Given the description of an element on the screen output the (x, y) to click on. 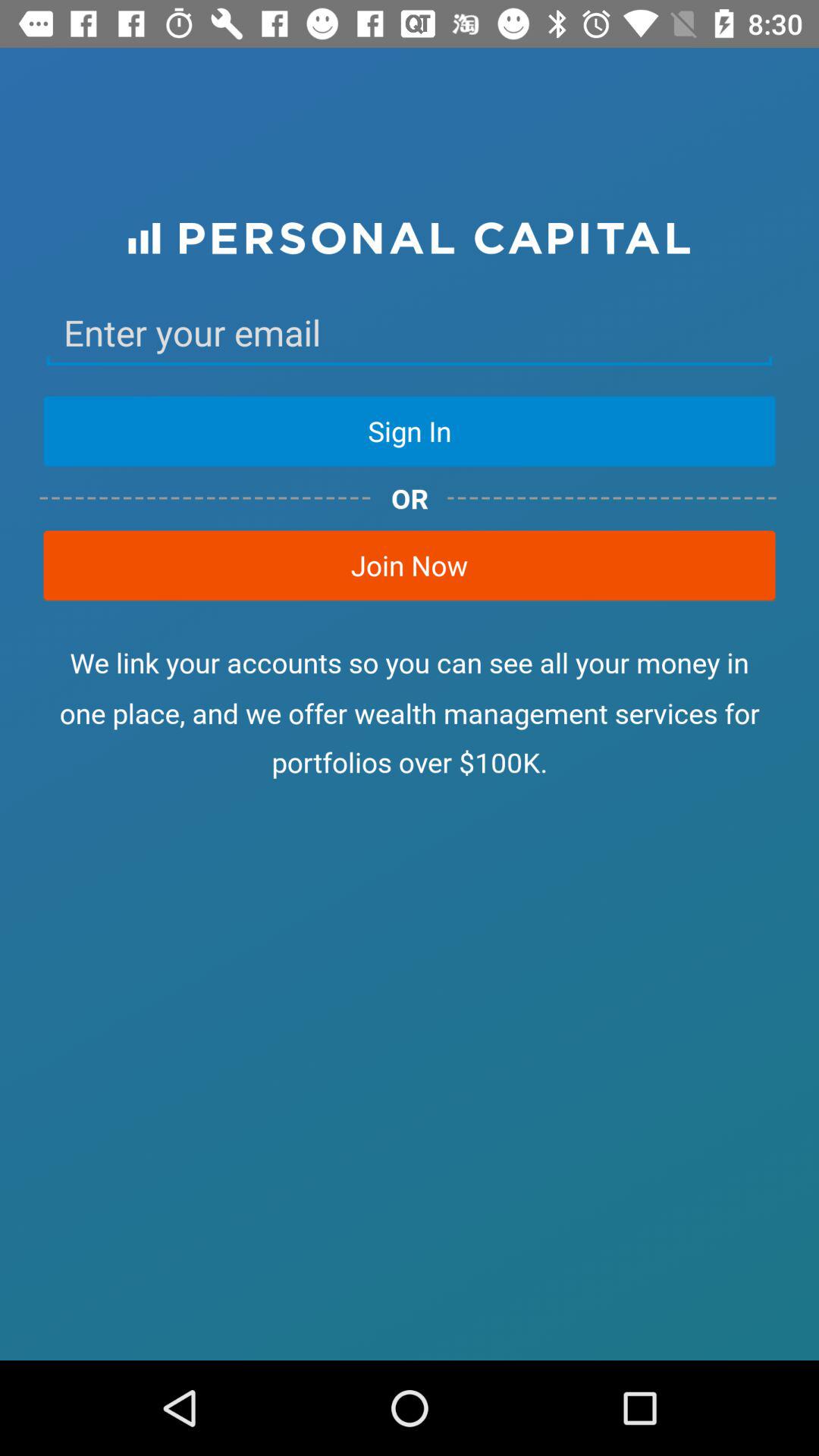
enter your email (409, 333)
